Given the description of an element on the screen output the (x, y) to click on. 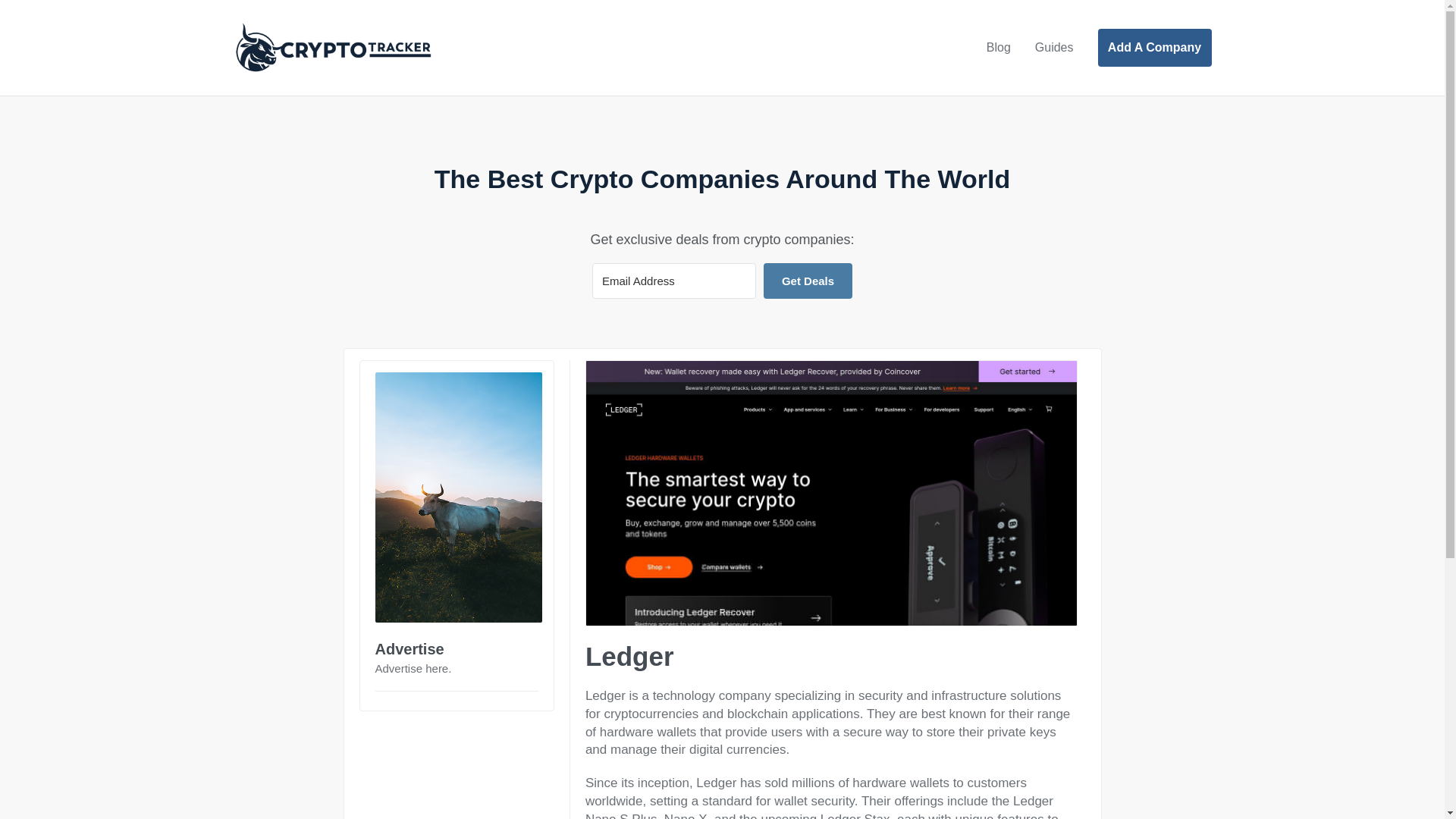
Advertise (409, 648)
Add A Company (1154, 47)
Blog (998, 47)
Guides (1054, 47)
Get Deals (806, 280)
